Given the description of an element on the screen output the (x, y) to click on. 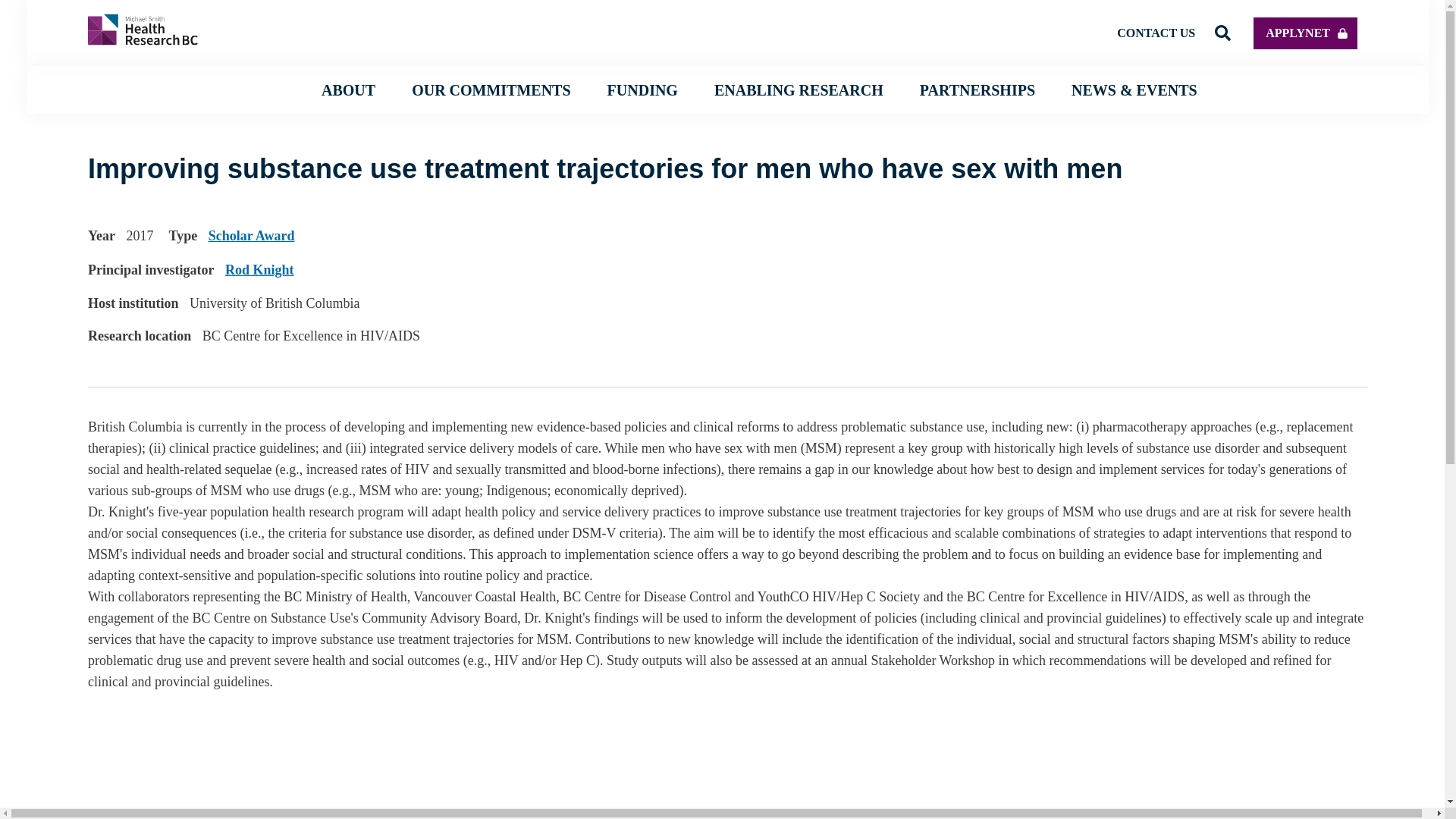
FUNDING (642, 89)
OUR COMMITMENTS (491, 89)
ABOUT (348, 89)
CONTACT US (1155, 32)
APPLYNET (1304, 32)
ENABLING RESEARCH (798, 89)
